Given the description of an element on the screen output the (x, y) to click on. 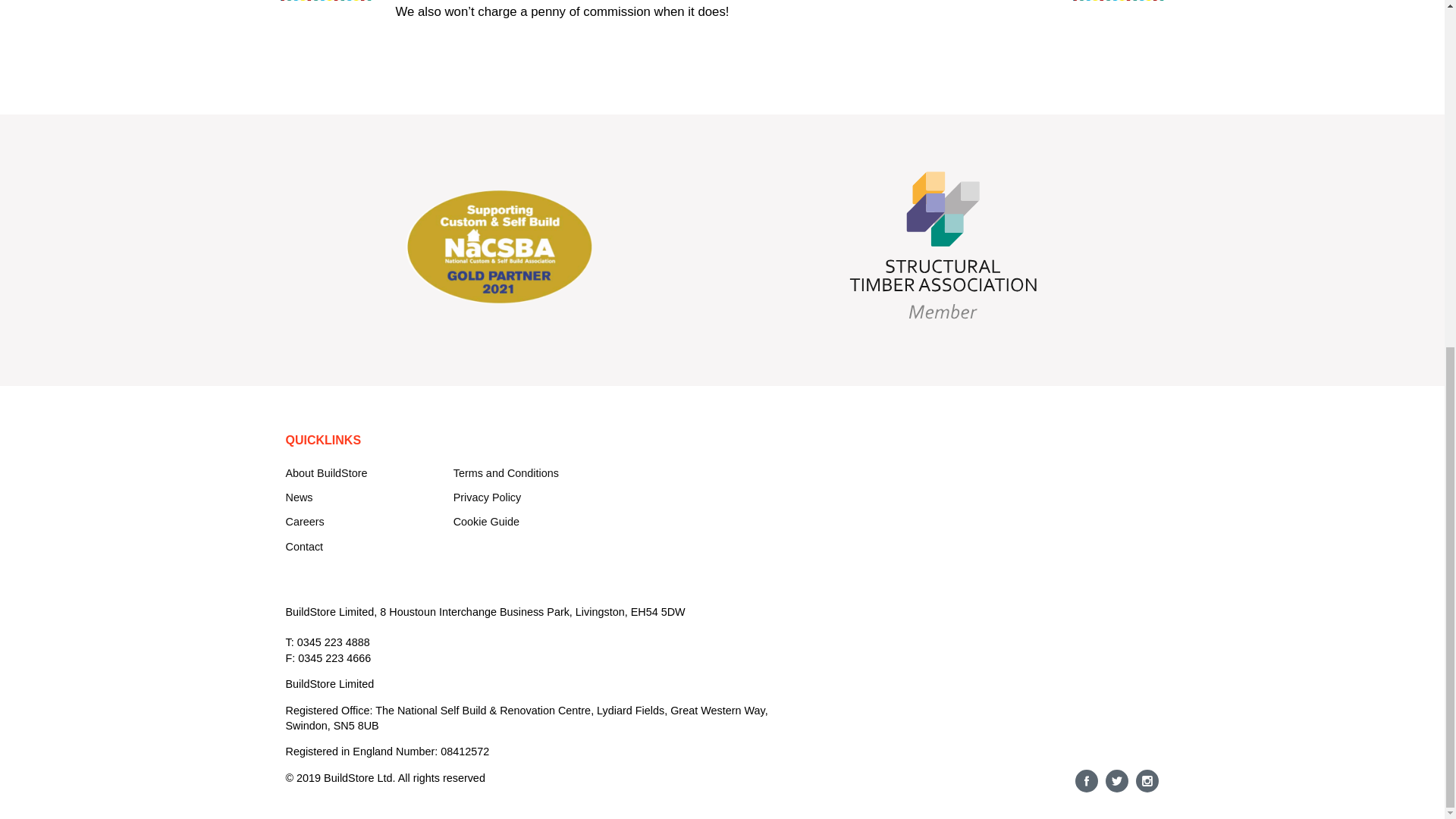
About BuildStore (325, 472)
